Given the description of an element on the screen output the (x, y) to click on. 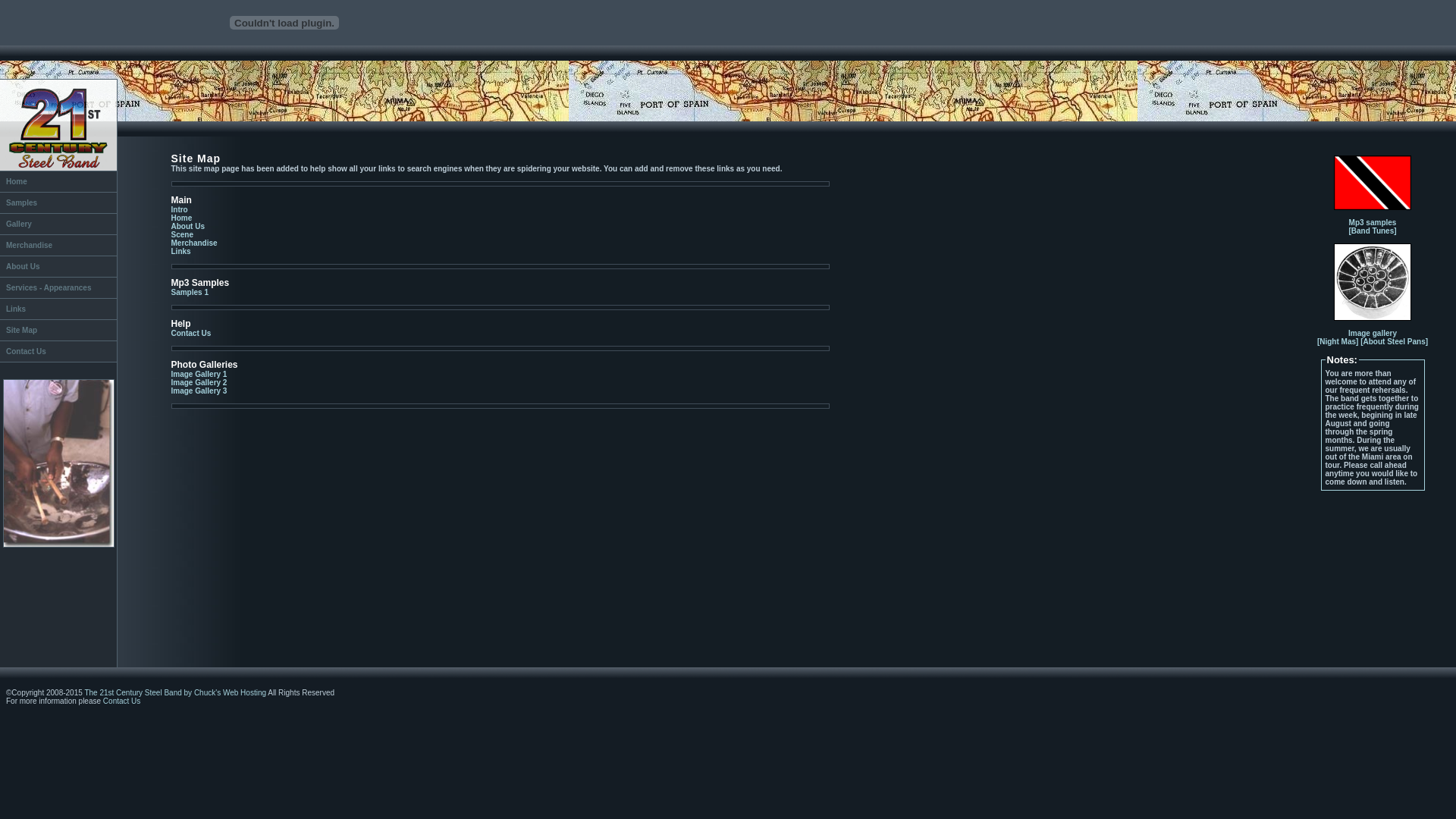
Image Gallery 2 Element type: text (199, 382)
Image Gallery 1 Element type: text (199, 374)
Contact Us Element type: text (121, 700)
Links Element type: text (58, 308)
The 21st Century Steel Band by Chuck's Web Hosting Element type: text (175, 692)
Intro Element type: text (179, 209)
Gallery Element type: text (58, 223)
Site Map Element type: text (58, 329)
Samples 1 Element type: text (189, 292)
Contact Us Element type: text (58, 350)
Scene Element type: text (182, 234)
Image Gallery 3 Element type: text (199, 390)
Mp3 samples Element type: text (1372, 222)
About Us Element type: text (58, 265)
Home Element type: text (181, 217)
Links Element type: text (181, 251)
Merchandise Element type: text (58, 244)
[About Steel Pans] Element type: text (1393, 341)
Contact Us Element type: text (191, 333)
Home Element type: text (58, 180)
Services - Appearances Element type: text (58, 287)
Merchandise Element type: text (194, 242)
[Band Tunes] Element type: text (1372, 230)
[Night Mas] Element type: text (1337, 341)
Image gallery Element type: text (1372, 333)
About Us Element type: text (187, 226)
Samples Element type: text (58, 202)
